Given the description of an element on the screen output the (x, y) to click on. 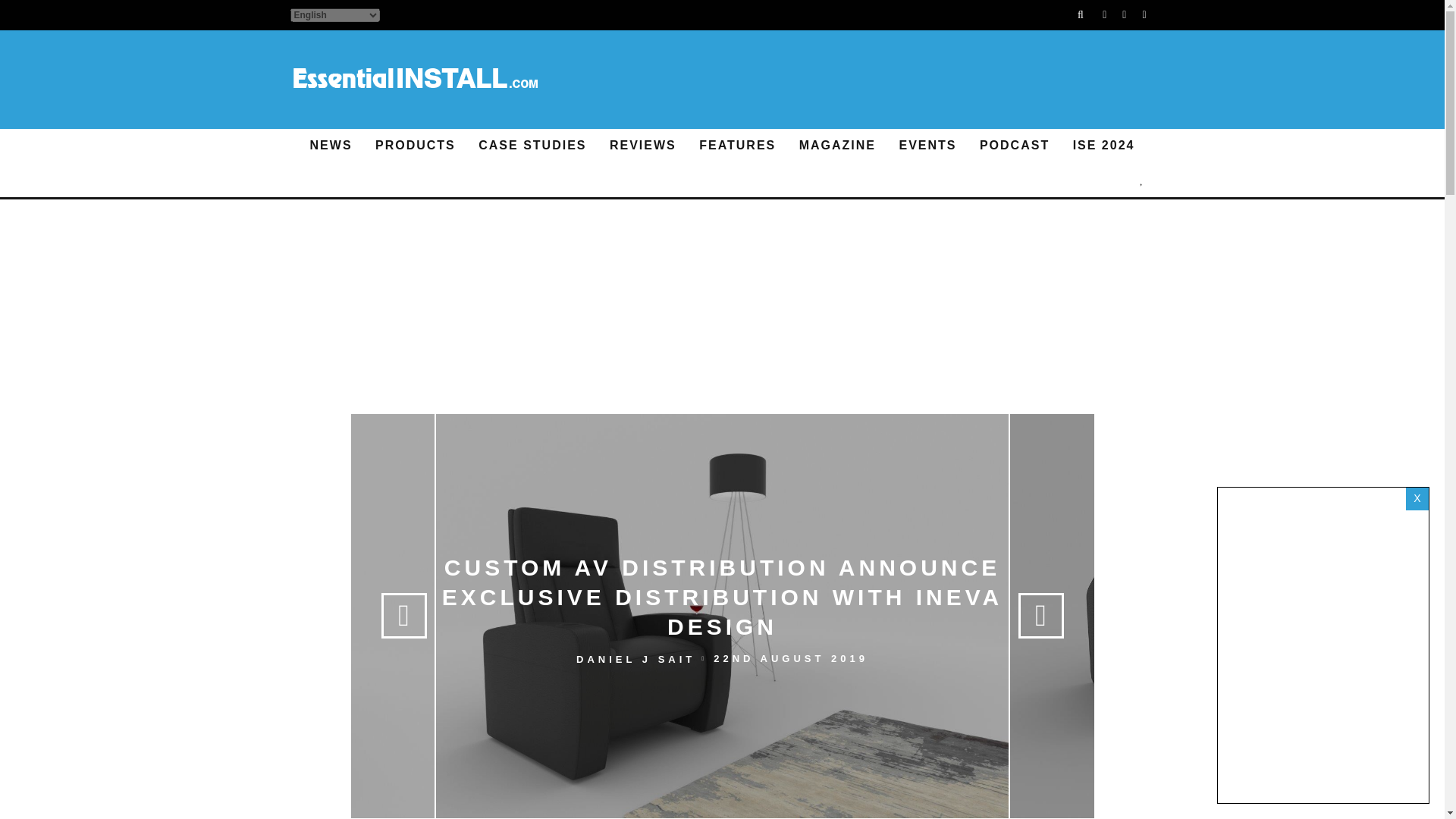
PRODUCTS (415, 145)
FEATURES (737, 145)
3rd party ad content (721, 255)
NEWS (331, 145)
PODCAST (1014, 145)
EVENTS (927, 145)
MAGAZINE (837, 145)
3rd party ad content (878, 79)
CASE STUDIES (531, 145)
3rd party ad content (721, 357)
REVIEWS (642, 145)
Log In (721, 409)
